Given the description of an element on the screen output the (x, y) to click on. 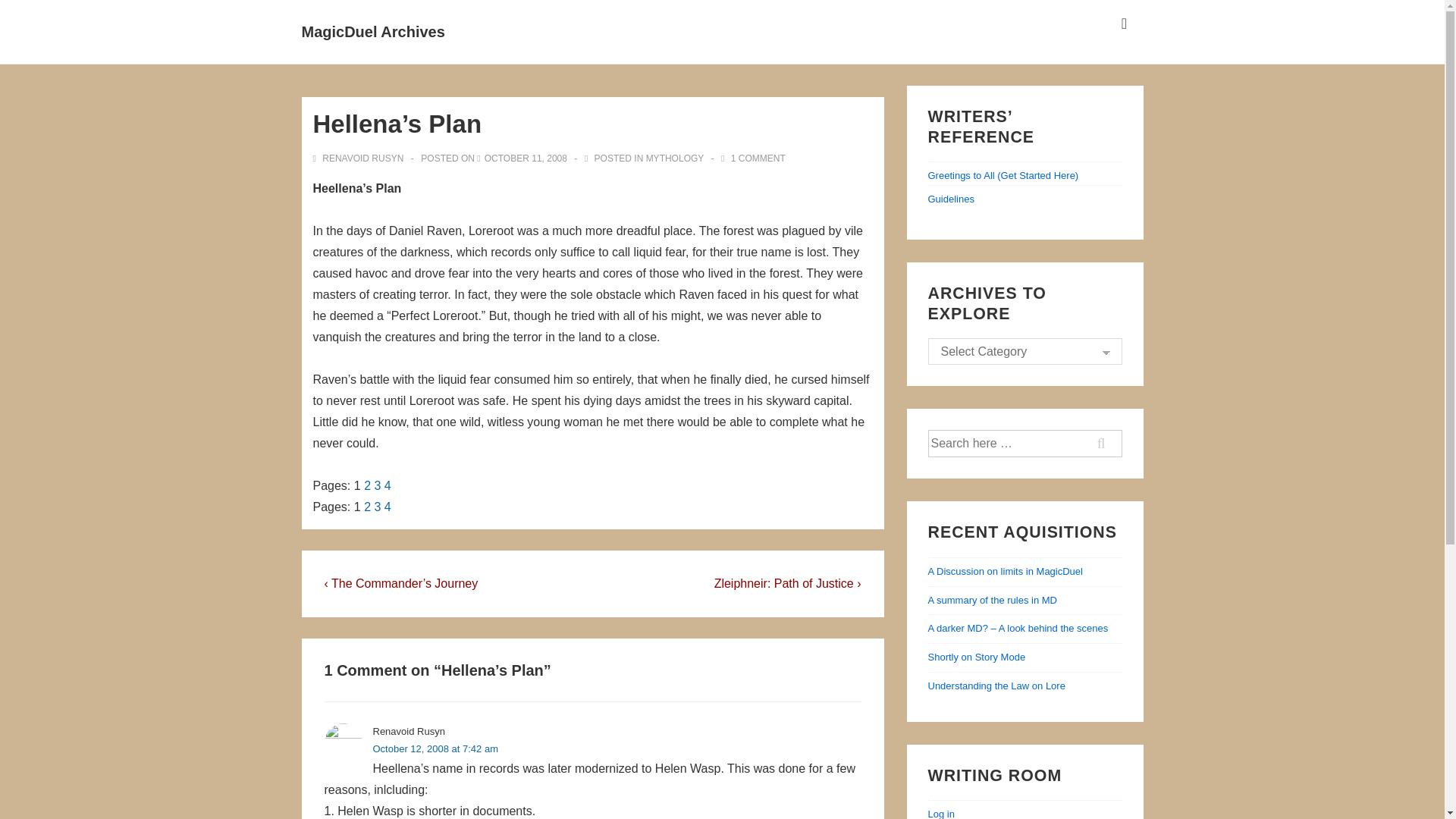
1 COMMENT (758, 158)
Guidelines (951, 198)
MENU (1123, 23)
A Discussion on limits in MagicDuel (1005, 571)
MagicDuel Archives (373, 31)
Log in (941, 813)
RENAVOID RUSYN (359, 158)
MYTHOLOGY (674, 158)
October 12, 2008 at 7:42 am (435, 748)
View all posts by Renavoid Rusyn (359, 158)
Understanding the Law on Lore (996, 685)
A summary of the rules in MD (993, 600)
Shortly on Story Mode (977, 656)
OCTOBER 11, 2008 (525, 158)
